Given the description of an element on the screen output the (x, y) to click on. 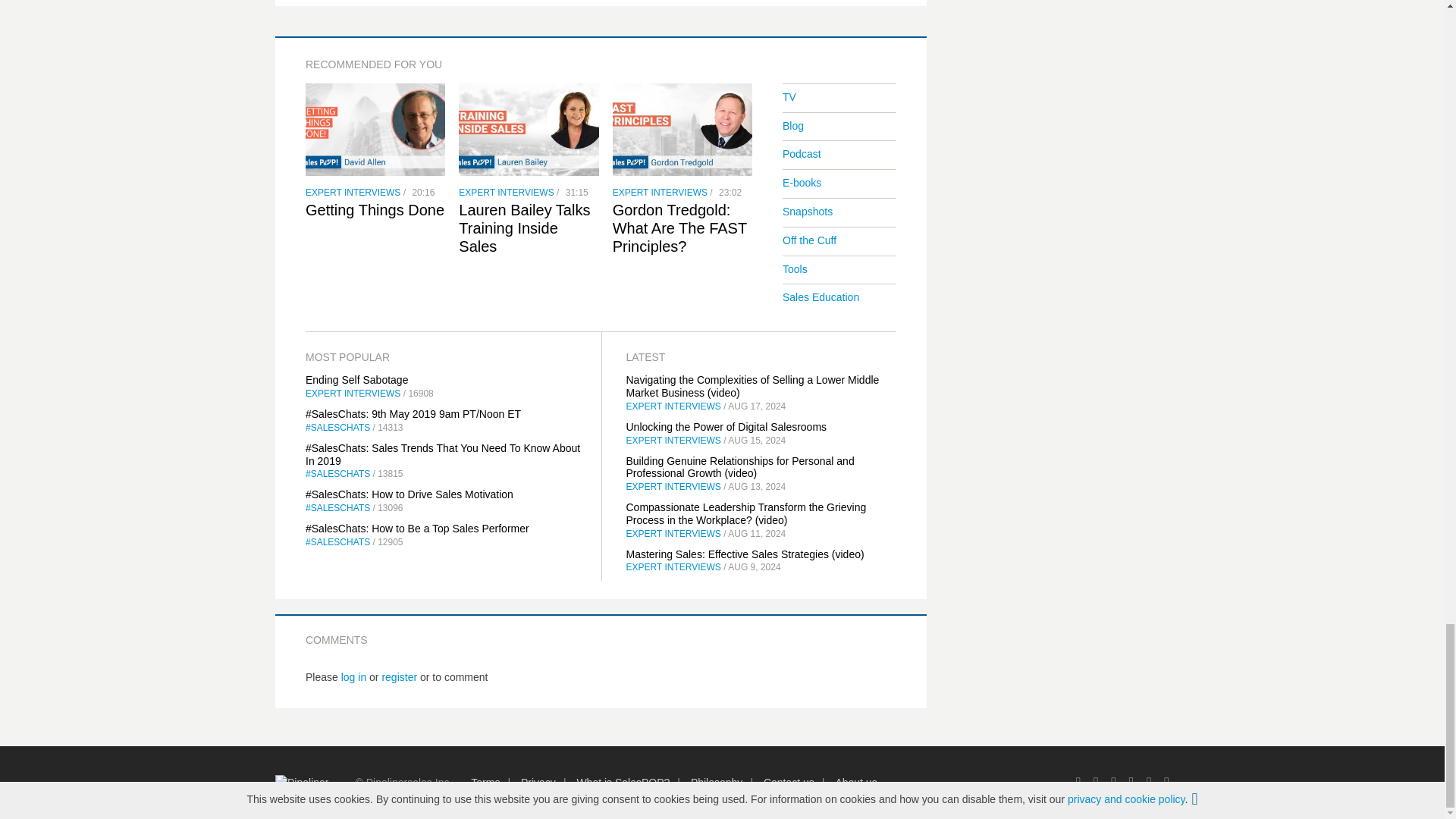
TV (789, 96)
E-books (802, 182)
Blog (793, 125)
Podcast (802, 153)
